Given the description of an element on the screen output the (x, y) to click on. 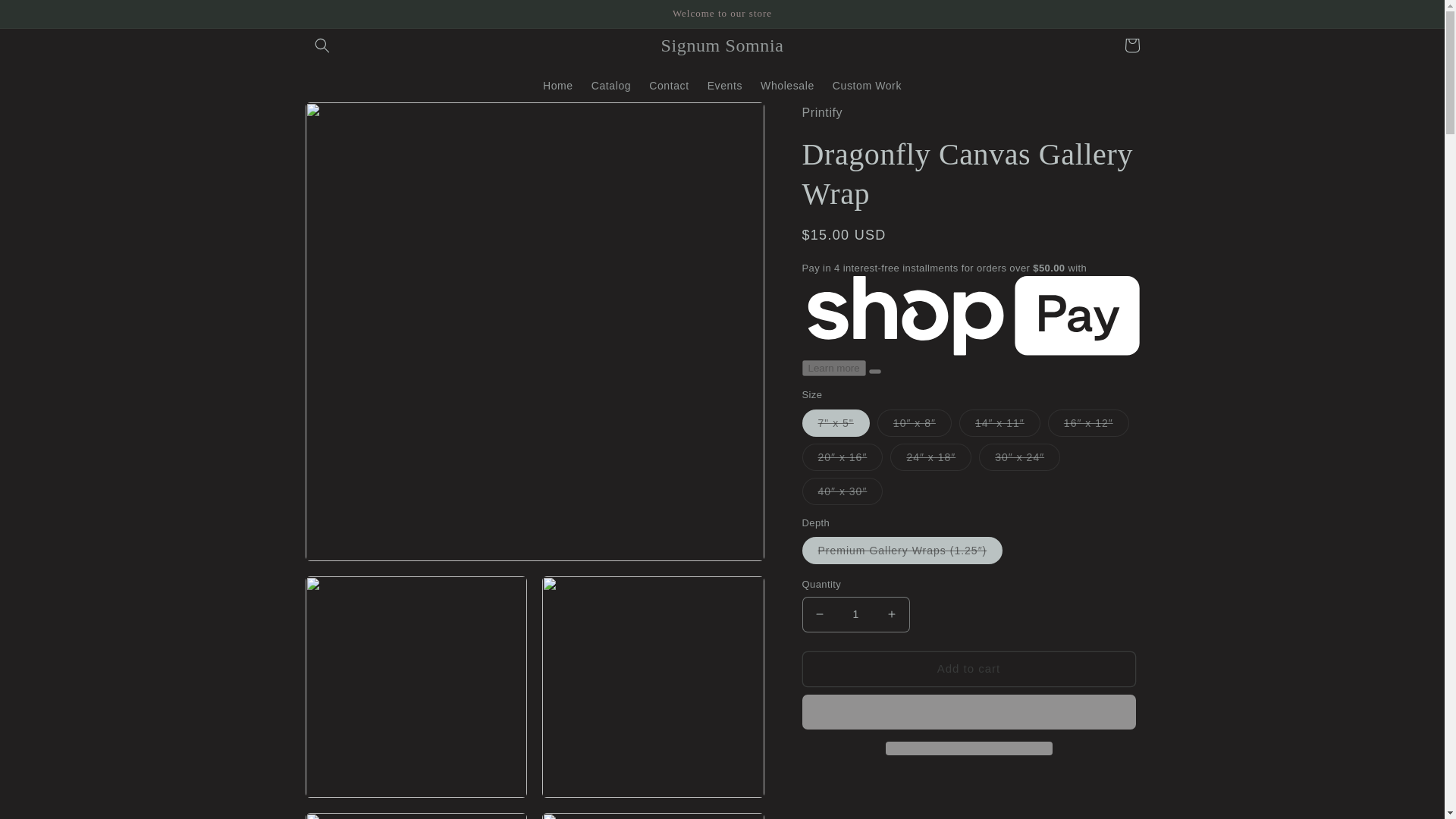
Contact (668, 85)
Cart (1131, 45)
Events (724, 85)
Signum Somnia (722, 44)
Wholesale (787, 85)
Home (558, 85)
1 (856, 614)
Skip to content (45, 17)
Custom Work (867, 85)
